Given the description of an element on the screen output the (x, y) to click on. 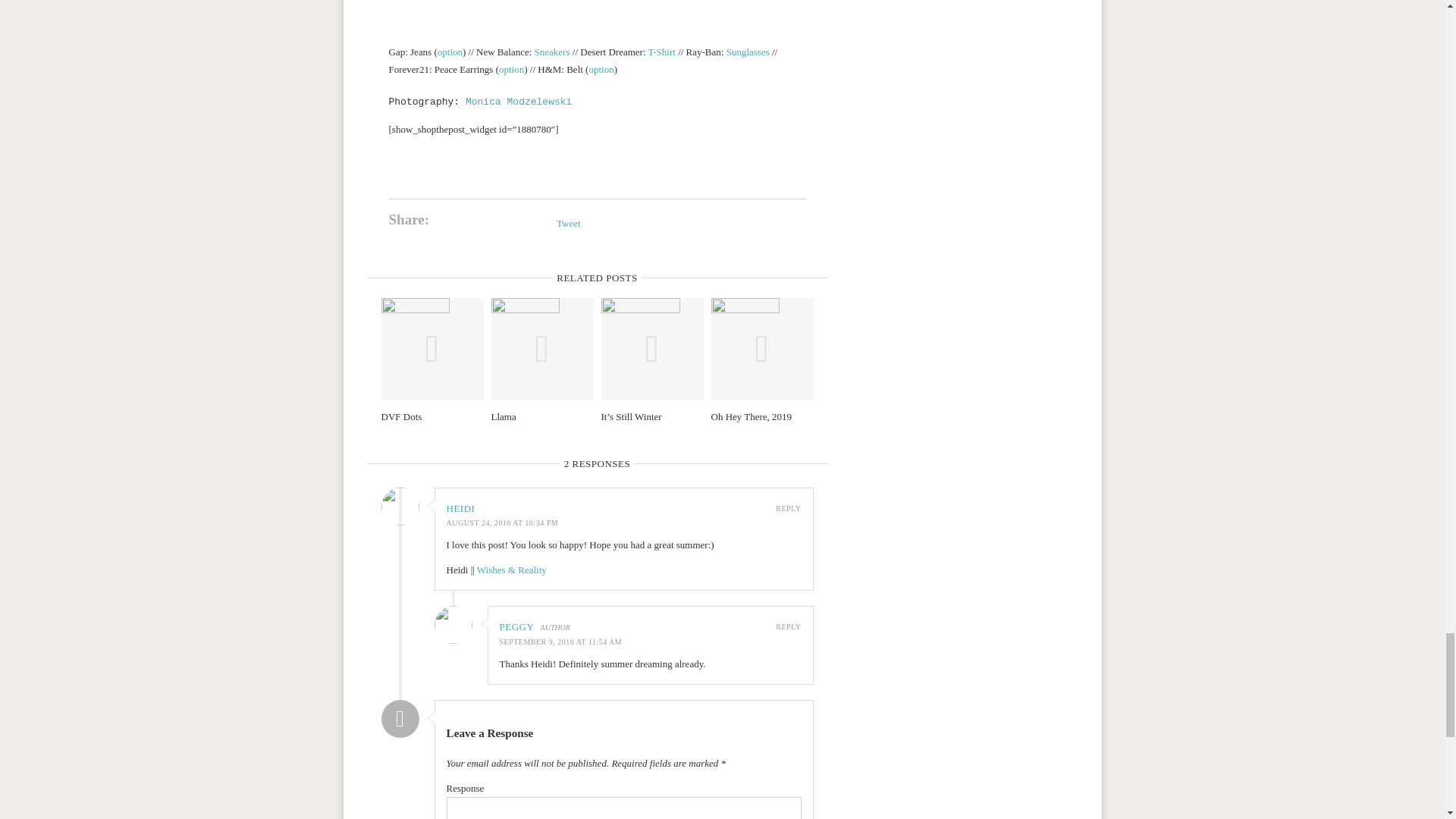
option (600, 69)
Sunglasses (748, 51)
REPLY (788, 508)
T-Shirt (661, 51)
PEGGY (516, 626)
AUGUST 24, 2016 AT 10:34 PM (501, 522)
Tweet (568, 223)
option (511, 69)
Sneakers (552, 51)
option (450, 51)
Monica Modzelewski (518, 101)
